Given the description of an element on the screen output the (x, y) to click on. 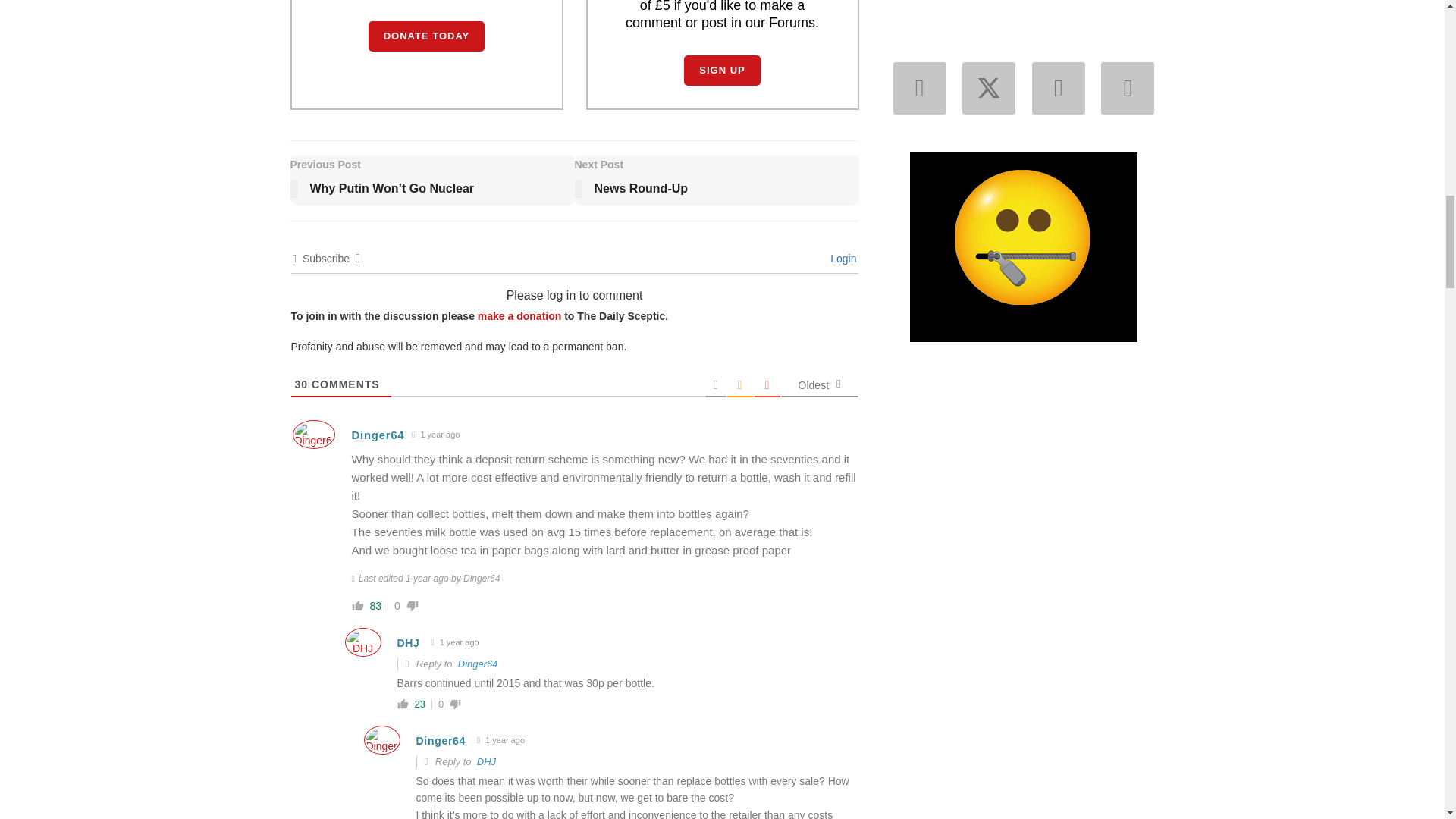
Make a donation (518, 316)
4 June 2023 5:22 pm (500, 740)
0 (397, 605)
SIGN UP (722, 70)
83 (376, 605)
30 (300, 384)
DONATE TODAY (426, 36)
4 June 2023 5:18 pm (455, 642)
23 (418, 704)
0 (440, 704)
4 June 2023 5:13 pm (435, 434)
